Given the description of an element on the screen output the (x, y) to click on. 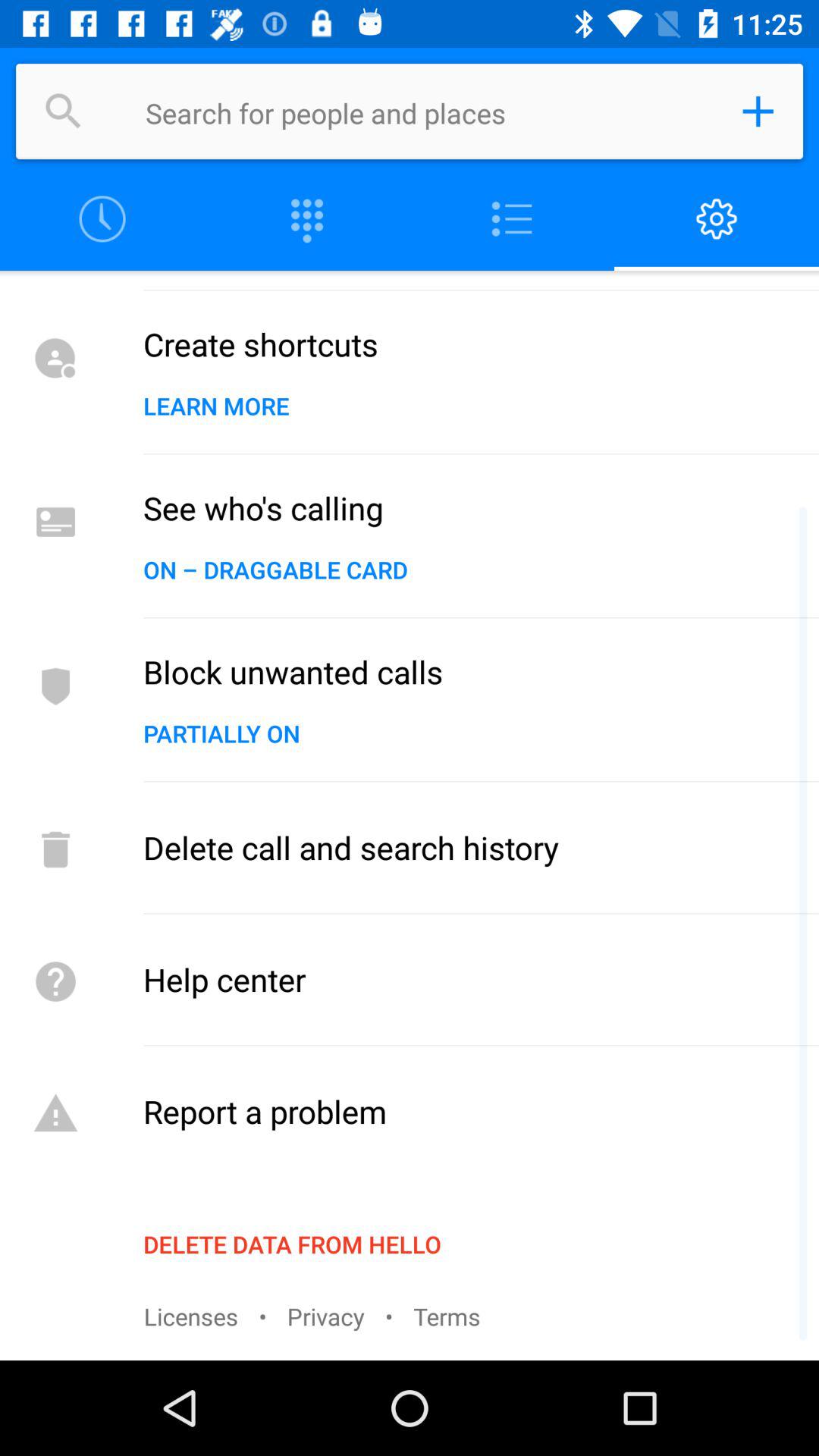
turn on licenses icon (190, 1316)
